Given the description of an element on the screen output the (x, y) to click on. 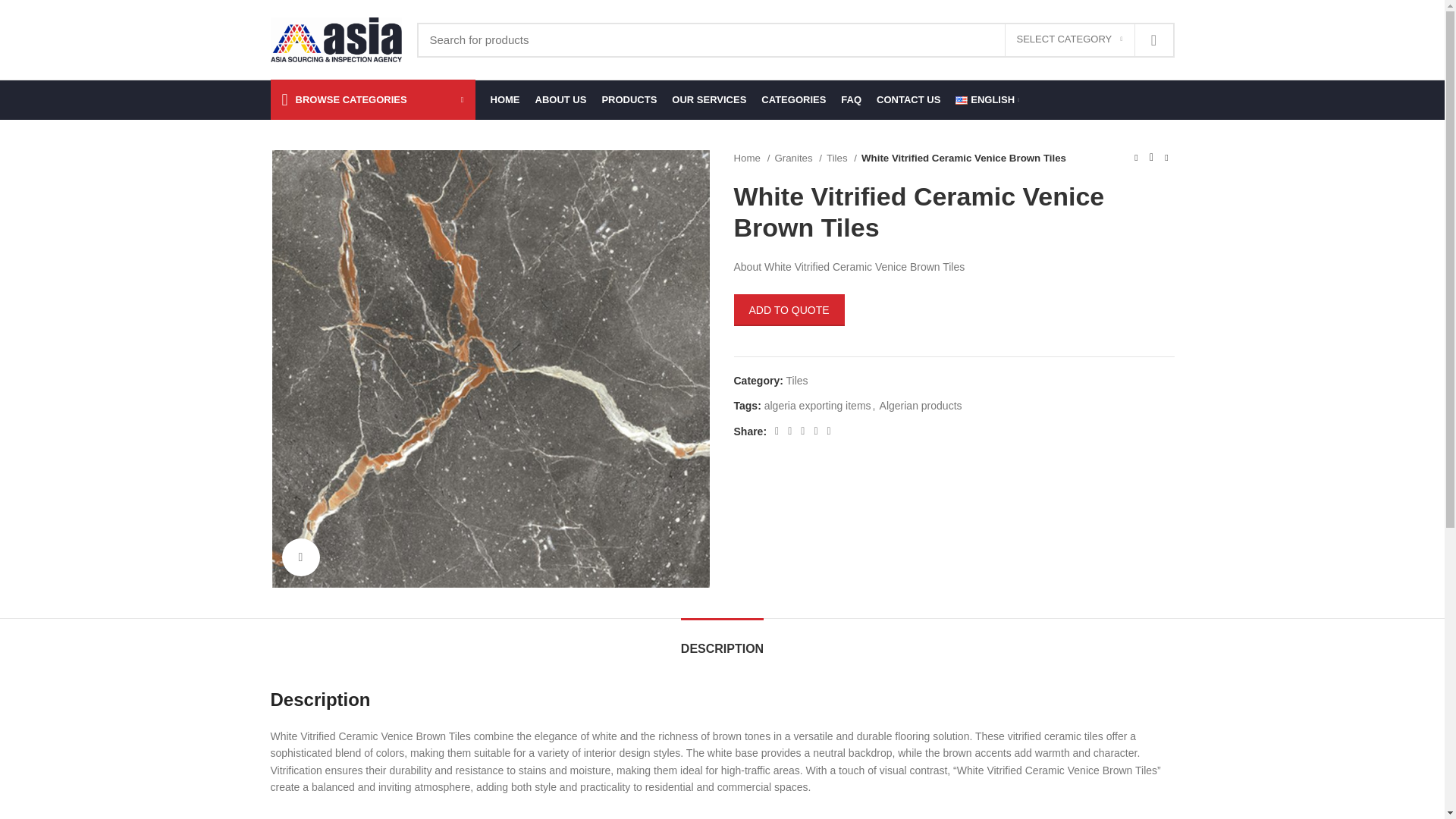
SELECT CATEGORY (1069, 40)
Search for products (795, 39)
SELECT CATEGORY (1069, 40)
